Given the description of an element on the screen output the (x, y) to click on. 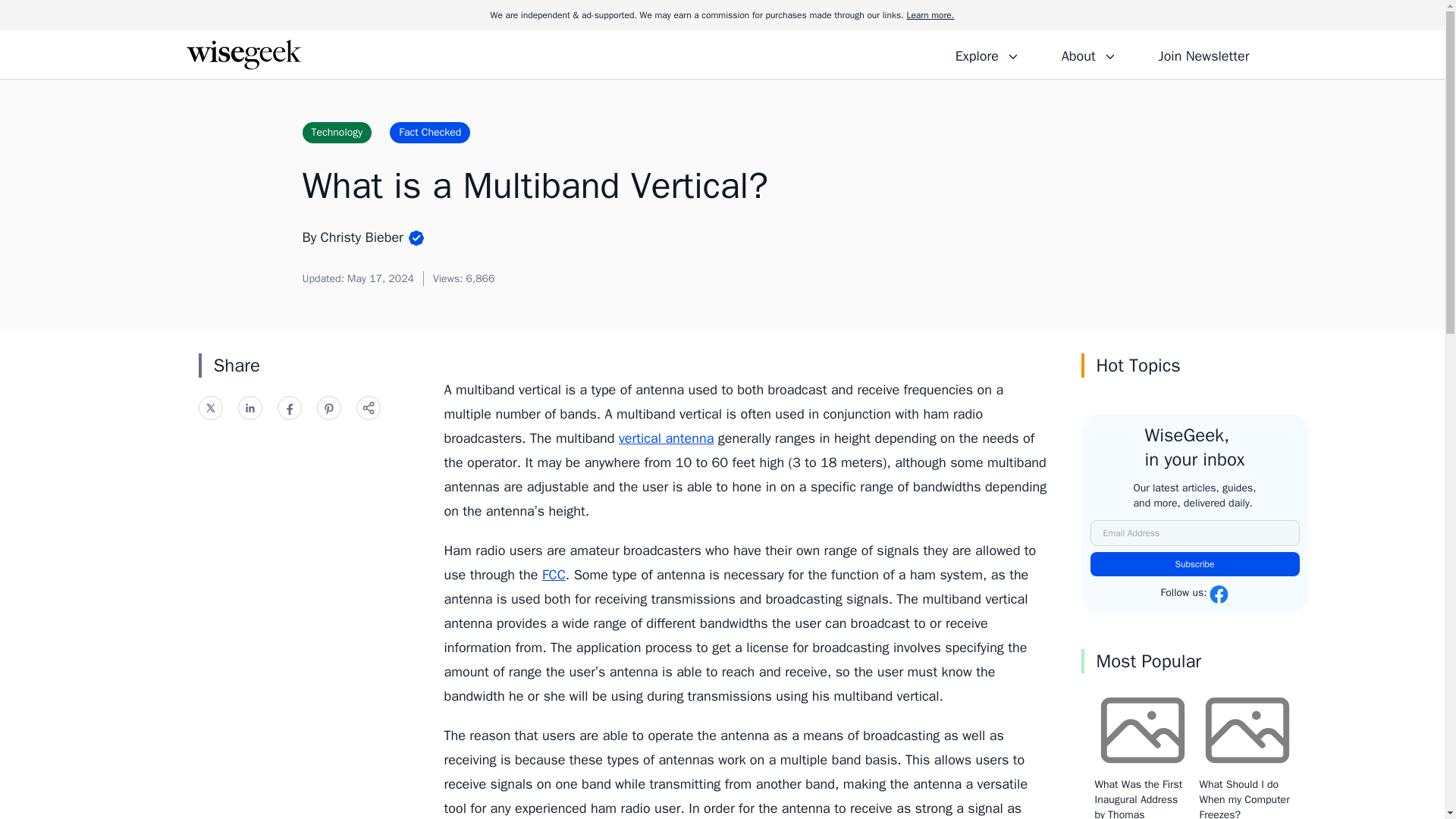
FCC (553, 574)
vertical antenna (665, 437)
About (1088, 54)
Fact Checked (430, 132)
Explore (986, 54)
Technology (336, 132)
Learn more. (929, 15)
Join Newsletter (1202, 54)
